Given the description of an element on the screen output the (x, y) to click on. 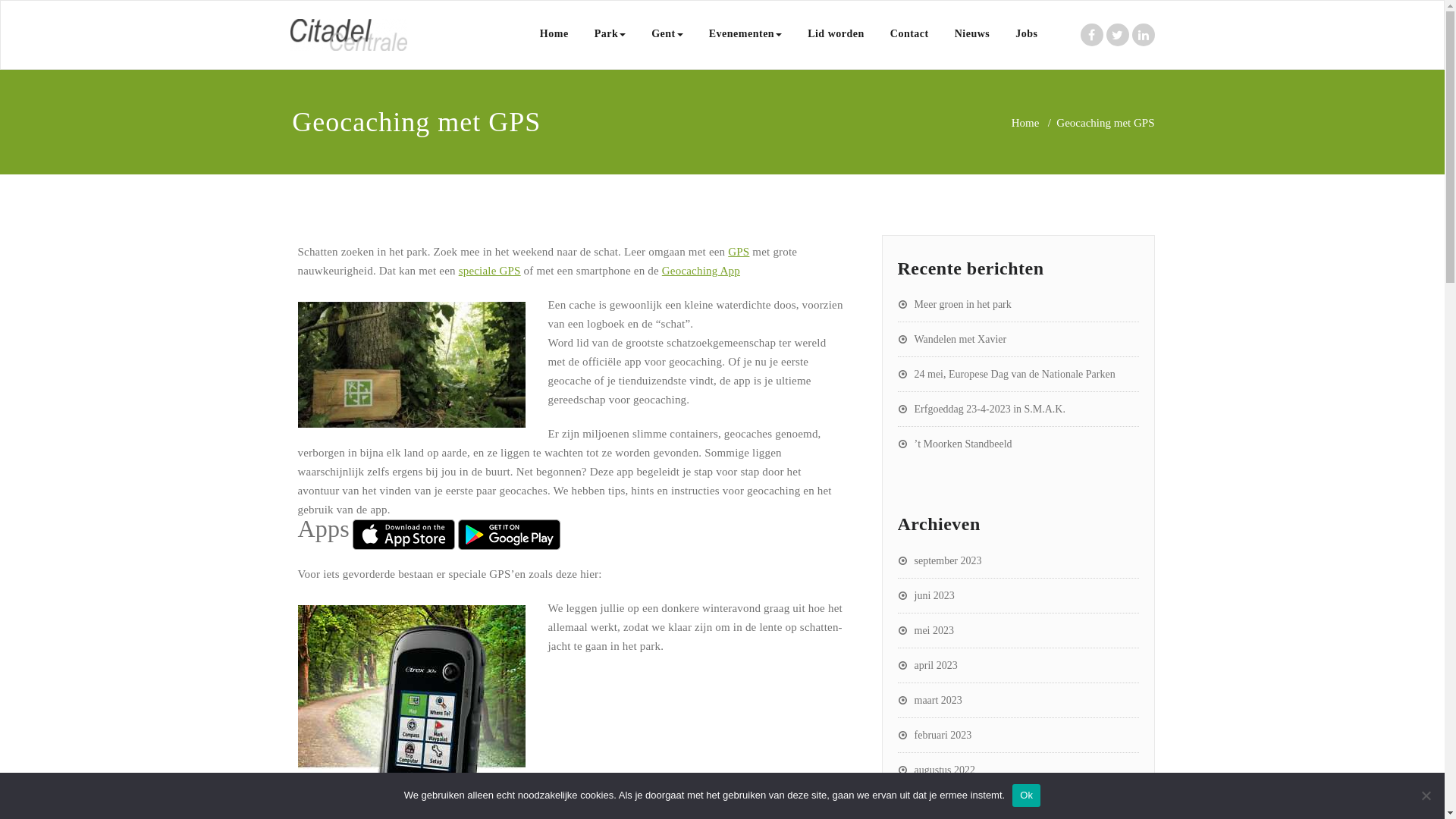
juni 2023 Element type: text (925, 595)
Geocaching App Element type: text (701, 270)
maart 2023 Element type: text (929, 700)
Meer groen in het park Element type: text (954, 304)
Evenementen Element type: text (745, 33)
Gent Element type: text (667, 33)
24 mei, Europese Dag van de Nationale Parken Element type: text (1006, 373)
speciale GPS Element type: text (489, 270)
Wandelen met Xavier Element type: text (952, 339)
mei 2023 Element type: text (925, 630)
Erfgoeddag 23-4-2023 in S.M.A.K. Element type: text (981, 408)
Home Element type: text (554, 33)
augustus 2022 Element type: text (936, 769)
Jobs Element type: text (1026, 33)
april 2023 Element type: text (927, 665)
Home Element type: text (1025, 122)
september 2023 Element type: text (939, 560)
Lid worden Element type: text (835, 33)
Contact Element type: text (909, 33)
februari 2023 Element type: text (934, 734)
juli 2022 Element type: text (924, 804)
GPS Element type: text (738, 251)
Park Element type: text (610, 33)
Ok Element type: text (1026, 795)
Citadel-Centrale Element type: text (531, 38)
Nieuws Element type: text (972, 33)
